Given the description of an element on the screen output the (x, y) to click on. 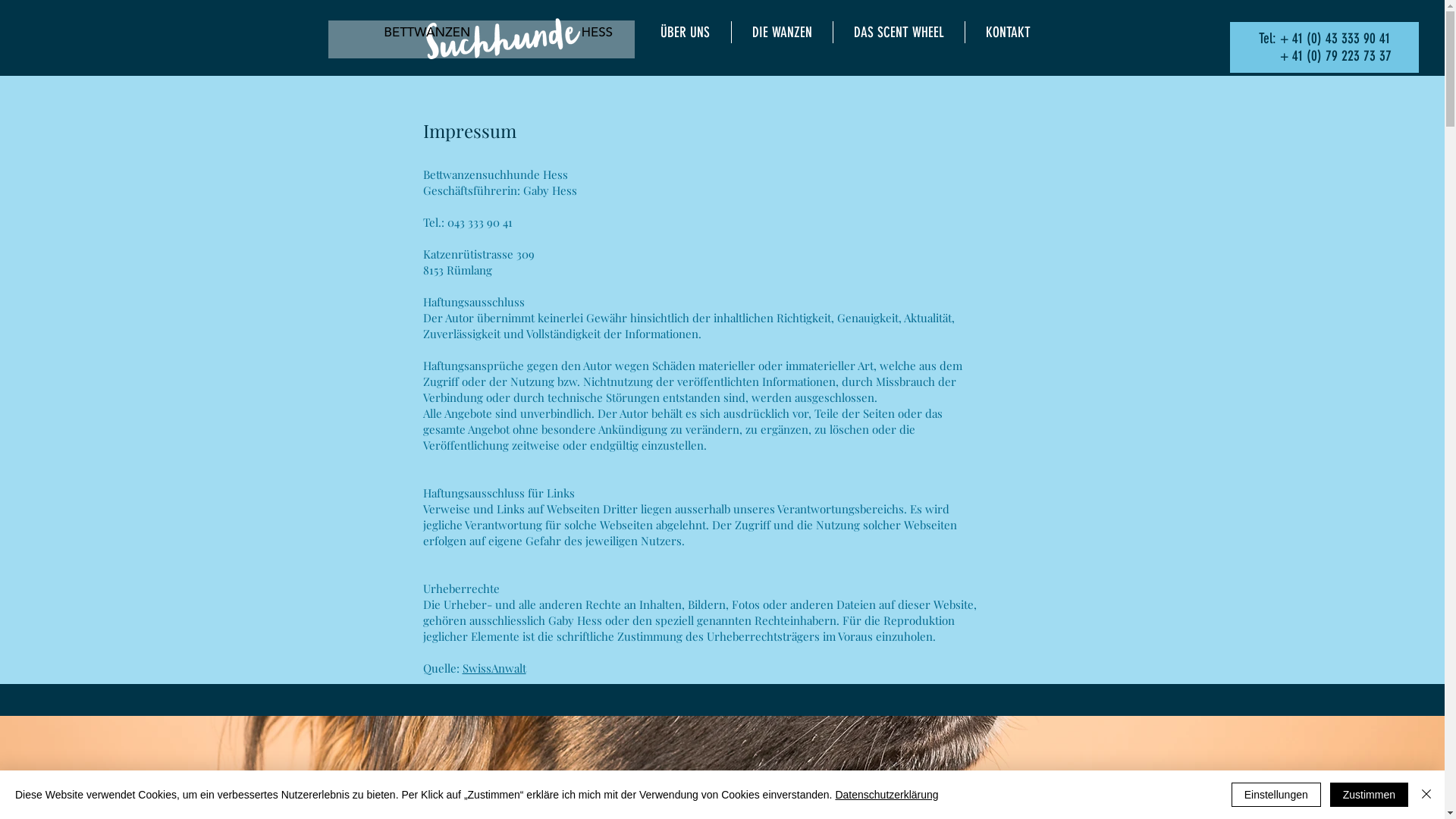
SwissAnwalt Element type: text (494, 667)
DAS SCENT WHEEL Element type: text (897, 32)
KONTAKT Element type: text (1007, 32)
Einstellungen Element type: text (1276, 794)
Zustimmen Element type: text (1369, 794)
DIE WANZEN Element type: text (781, 32)
